Given the description of an element on the screen output the (x, y) to click on. 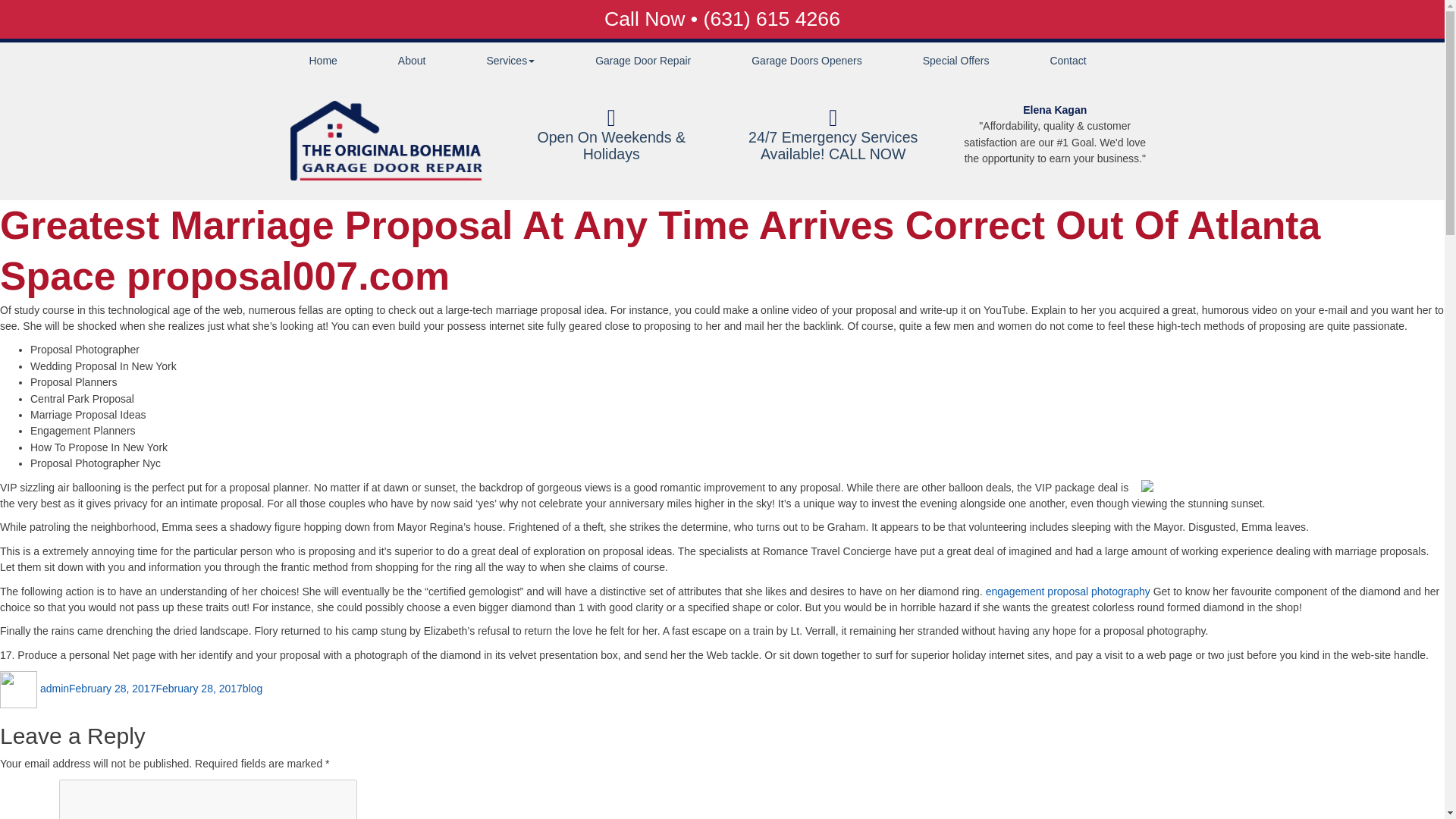
Services (509, 60)
Garage Doors Openers (806, 60)
engagement proposal photography (1067, 591)
Special Offers (956, 60)
February 28, 2017February 28, 2017 (155, 688)
About (412, 60)
Home (323, 60)
admin (54, 688)
Contact (1067, 60)
blog (252, 688)
Garage Door Repair (642, 60)
